Given the description of an element on the screen output the (x, y) to click on. 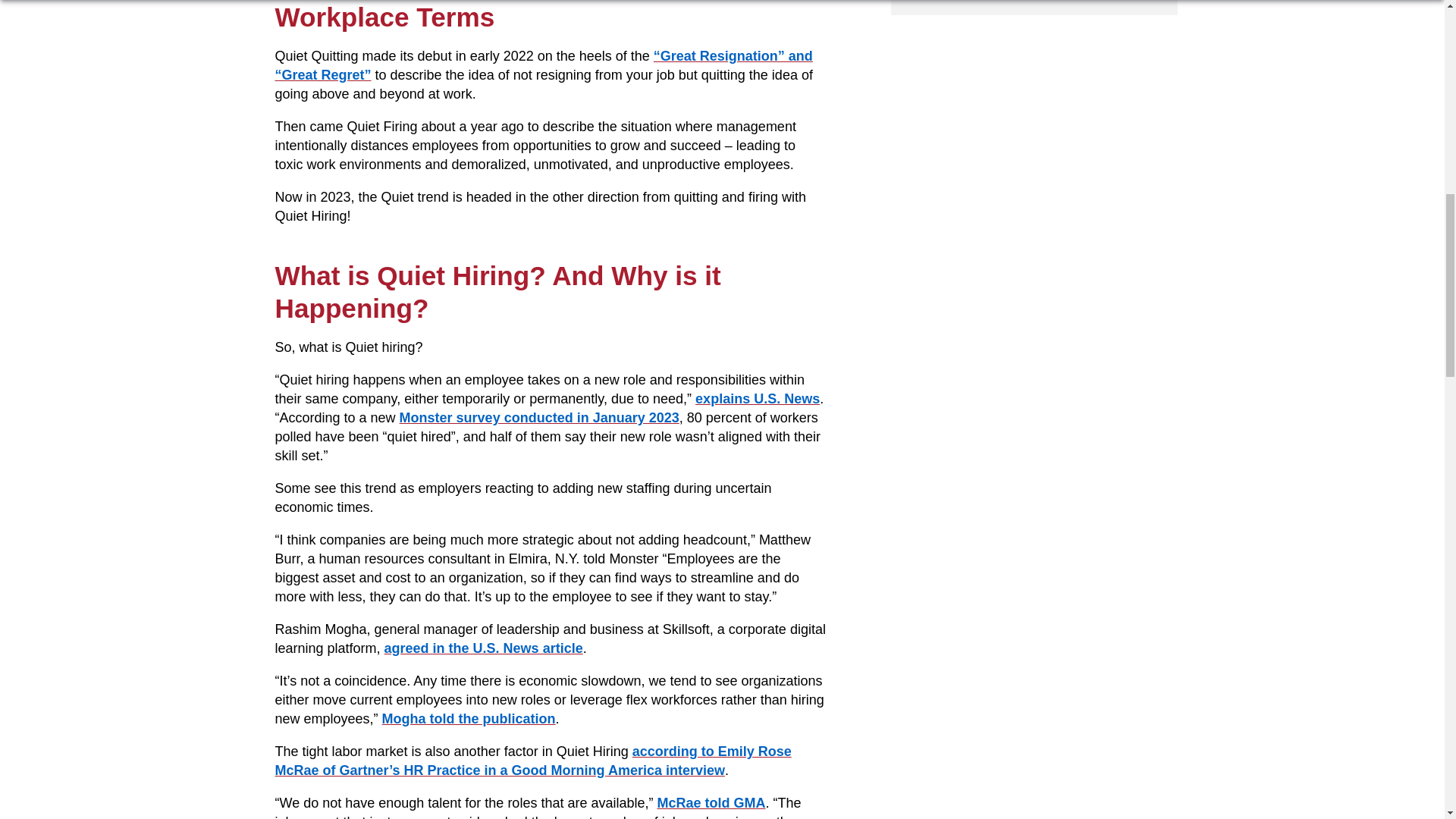
agreed in the U.S. News article (483, 648)
McRae told GMA (710, 802)
Mogha told the publication (468, 718)
Monster survey conducted in January 2023 (538, 417)
explains U.S. News (757, 398)
